Given the description of an element on the screen output the (x, y) to click on. 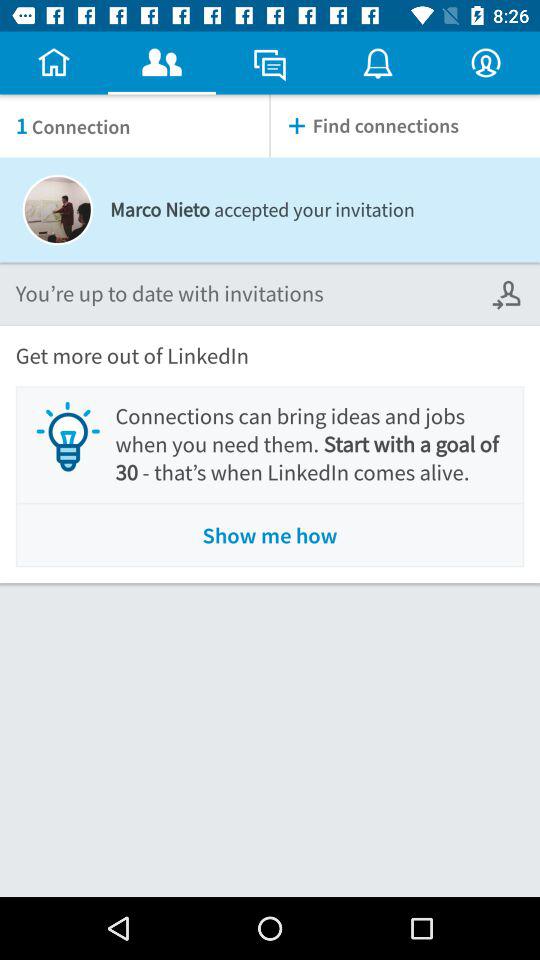
swipe until the show me how icon (269, 535)
